Given the description of an element on the screen output the (x, y) to click on. 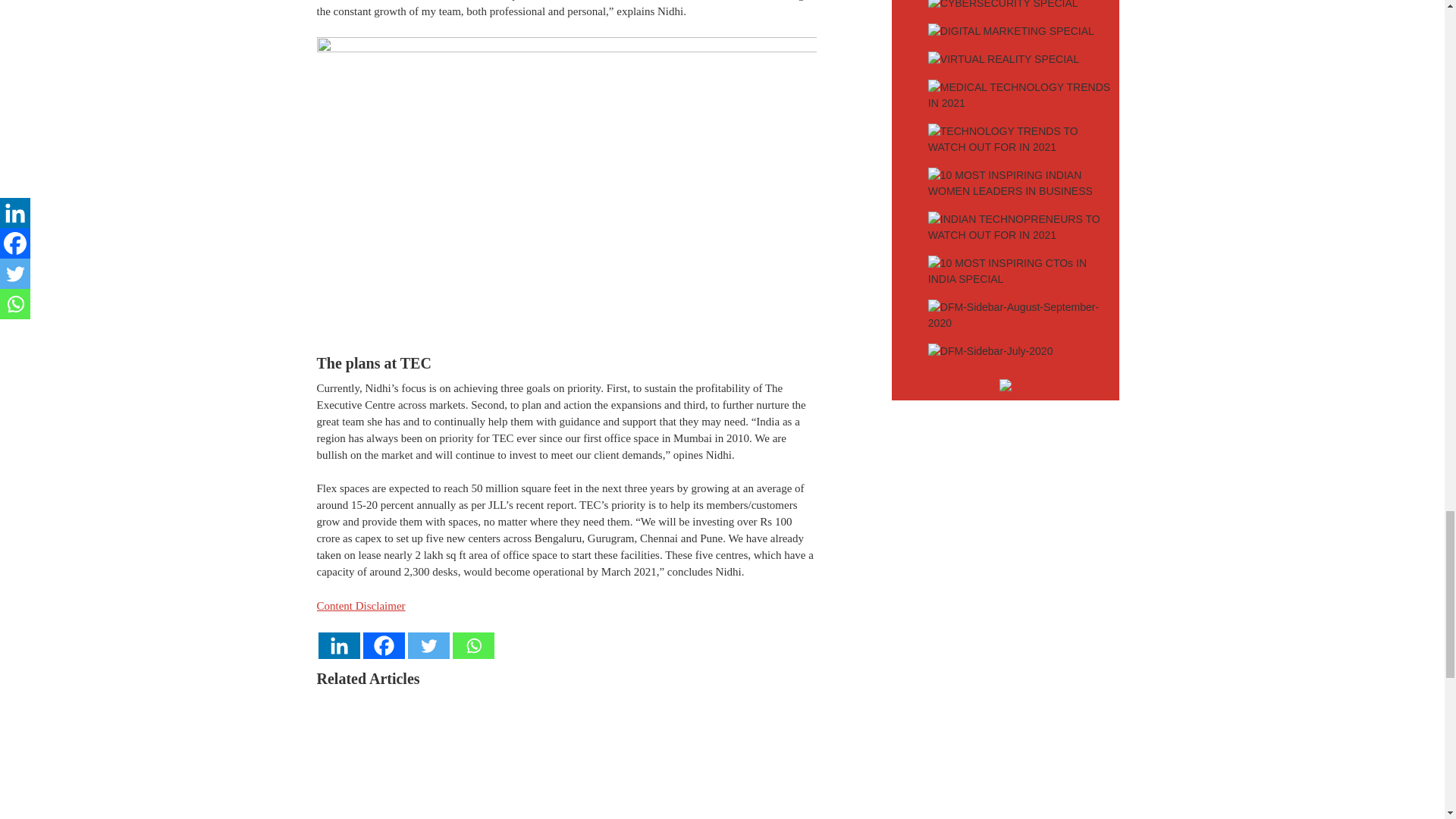
Linkedin (338, 645)
Twitter (428, 645)
Facebook (383, 645)
Whatsapp (472, 645)
